Given the description of an element on the screen output the (x, y) to click on. 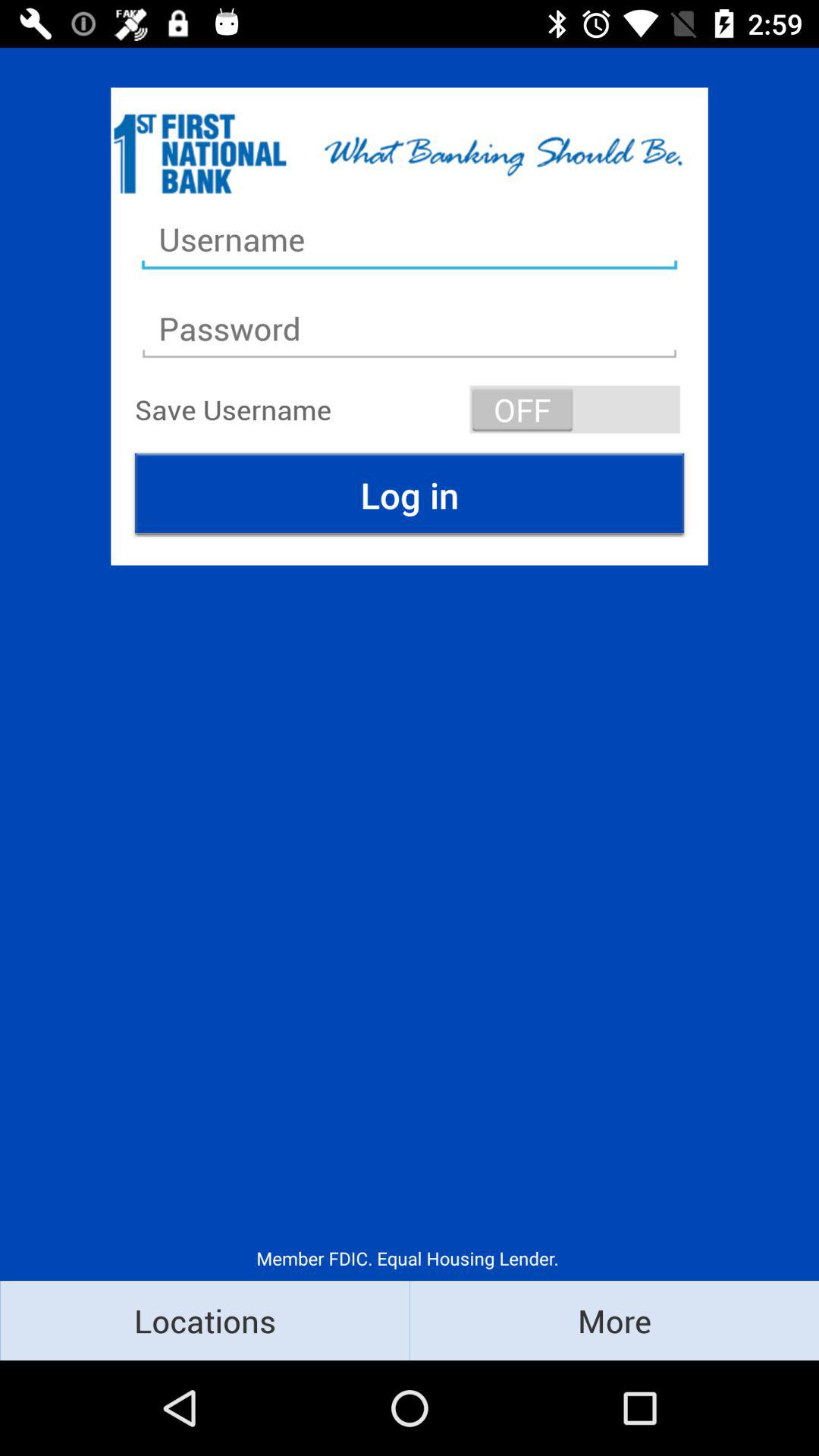
turn off item at the center (409, 494)
